Given the description of an element on the screen output the (x, y) to click on. 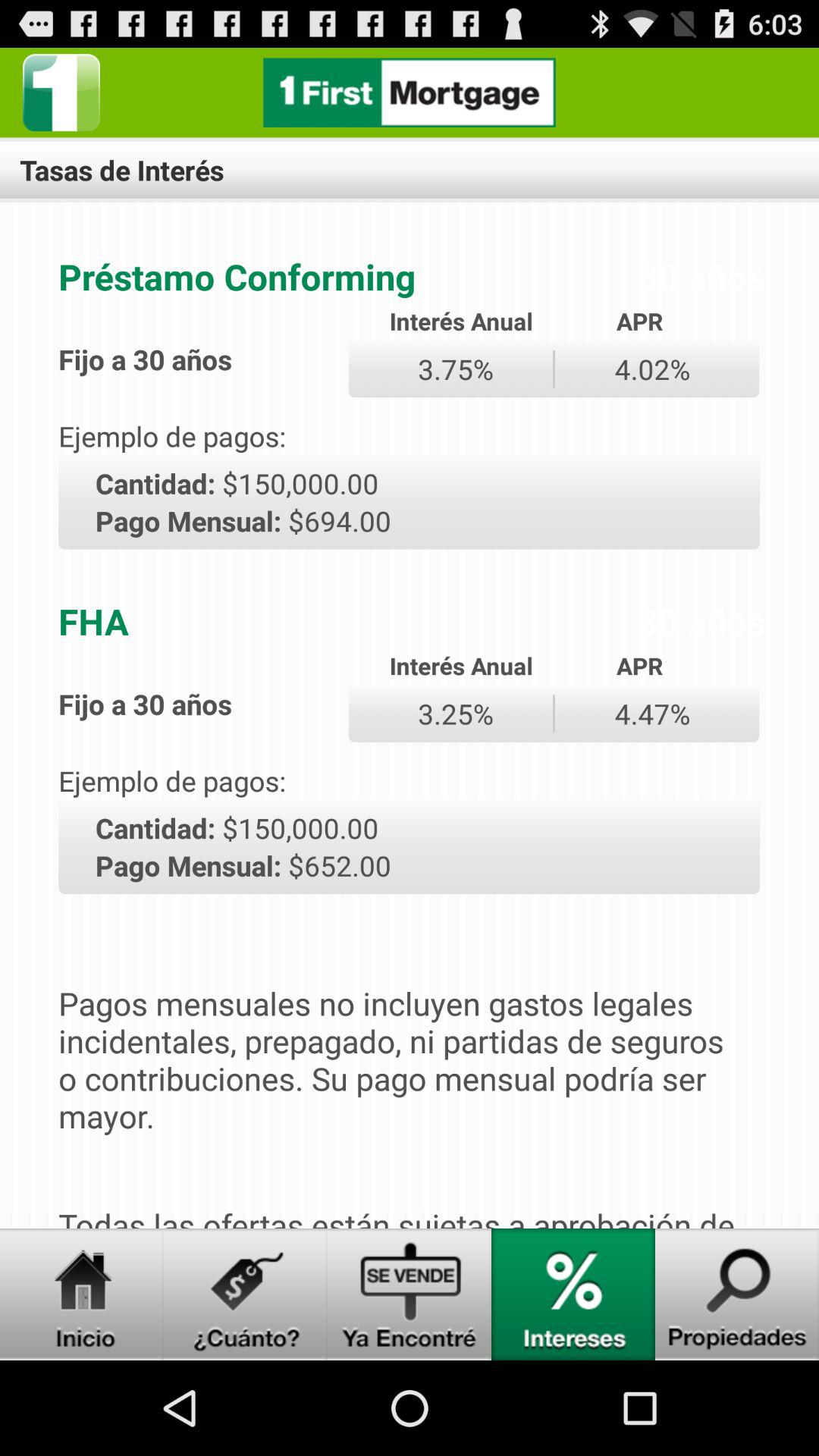
show prices button (245, 1294)
